Given the description of an element on the screen output the (x, y) to click on. 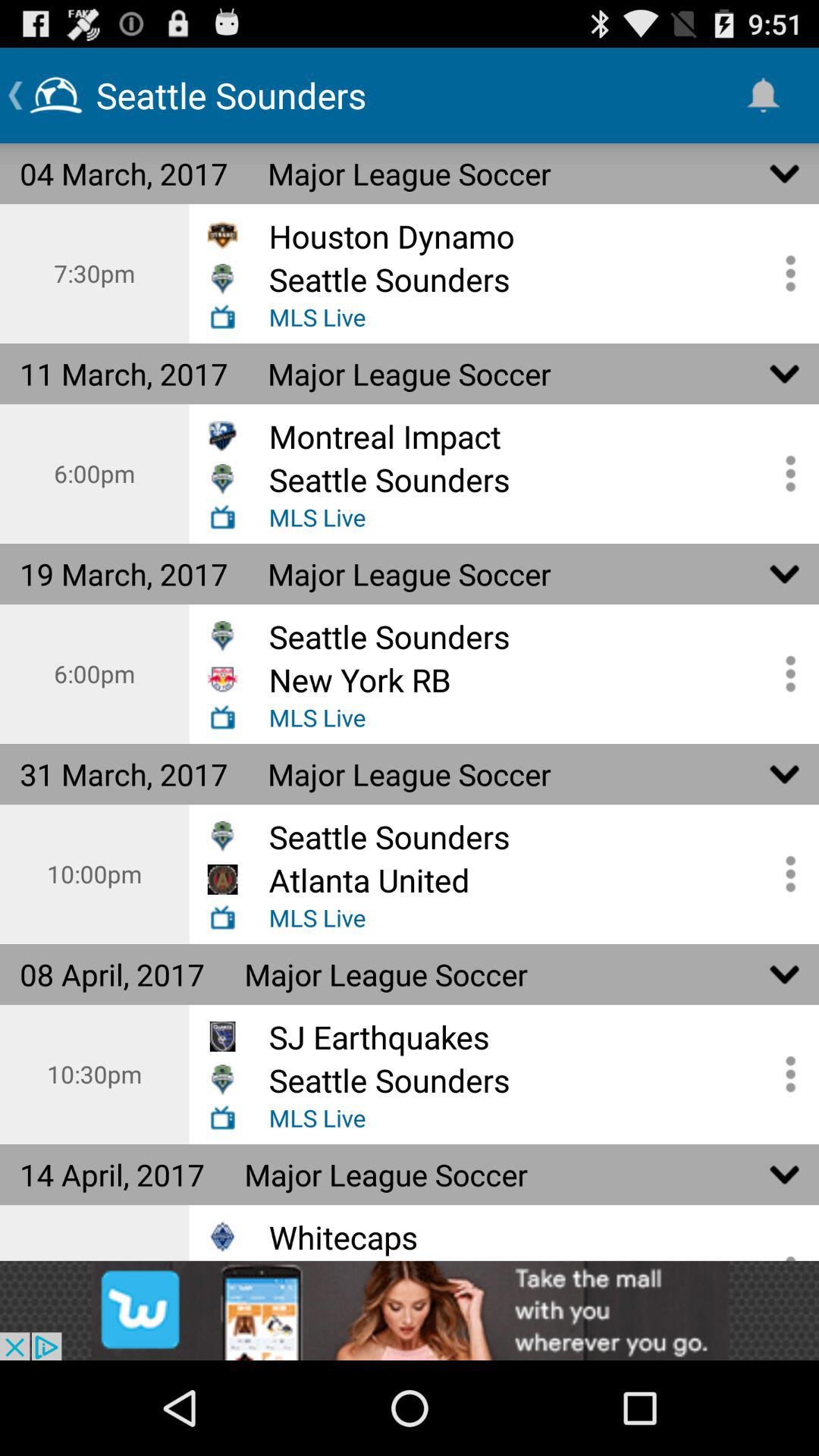
open details (785, 673)
